Given the description of an element on the screen output the (x, y) to click on. 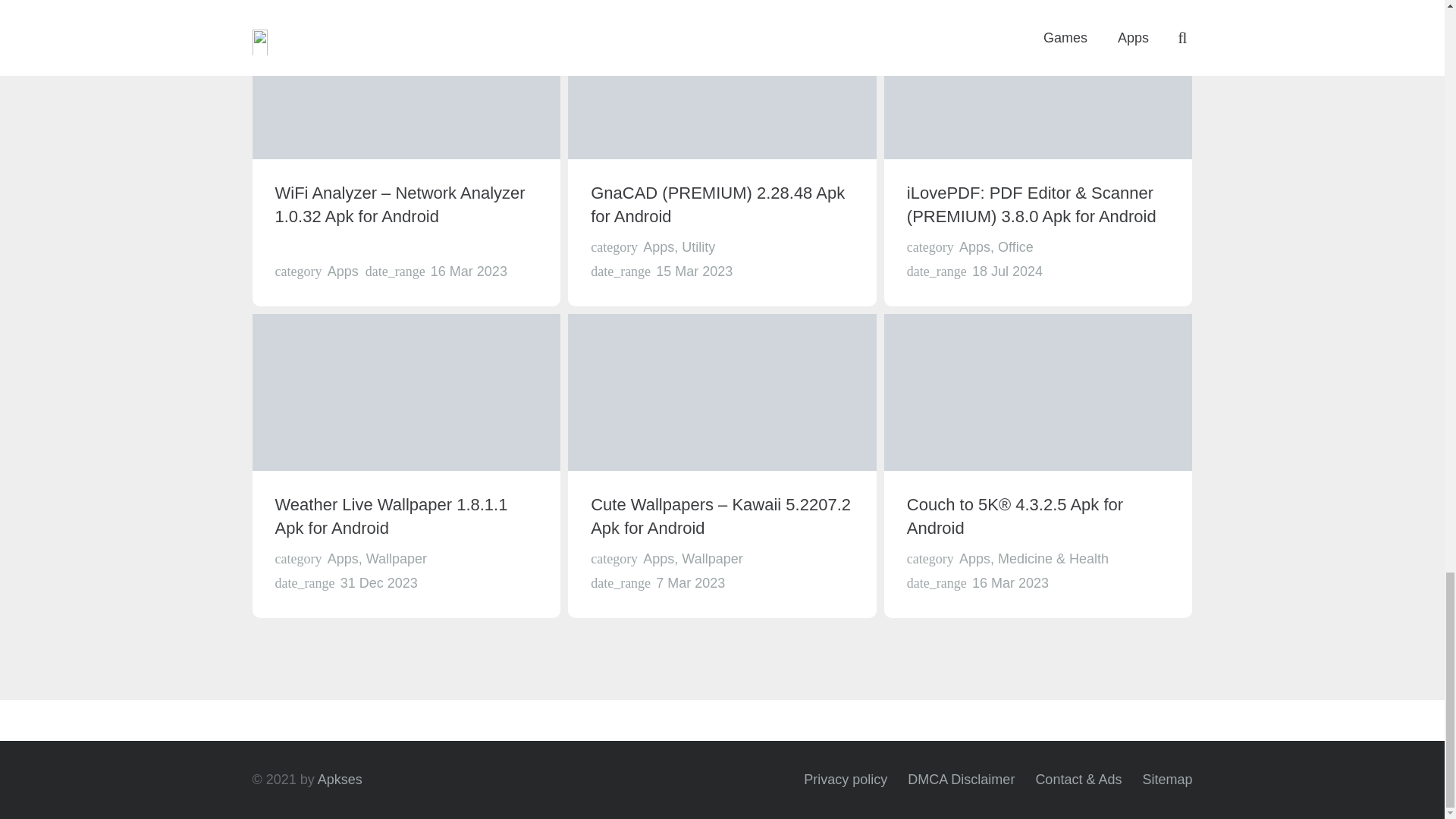
WiFi Analyzer - Network Analyzer 1.0.32 Apk for Android 14 (405, 80)
